Given the description of an element on the screen output the (x, y) to click on. 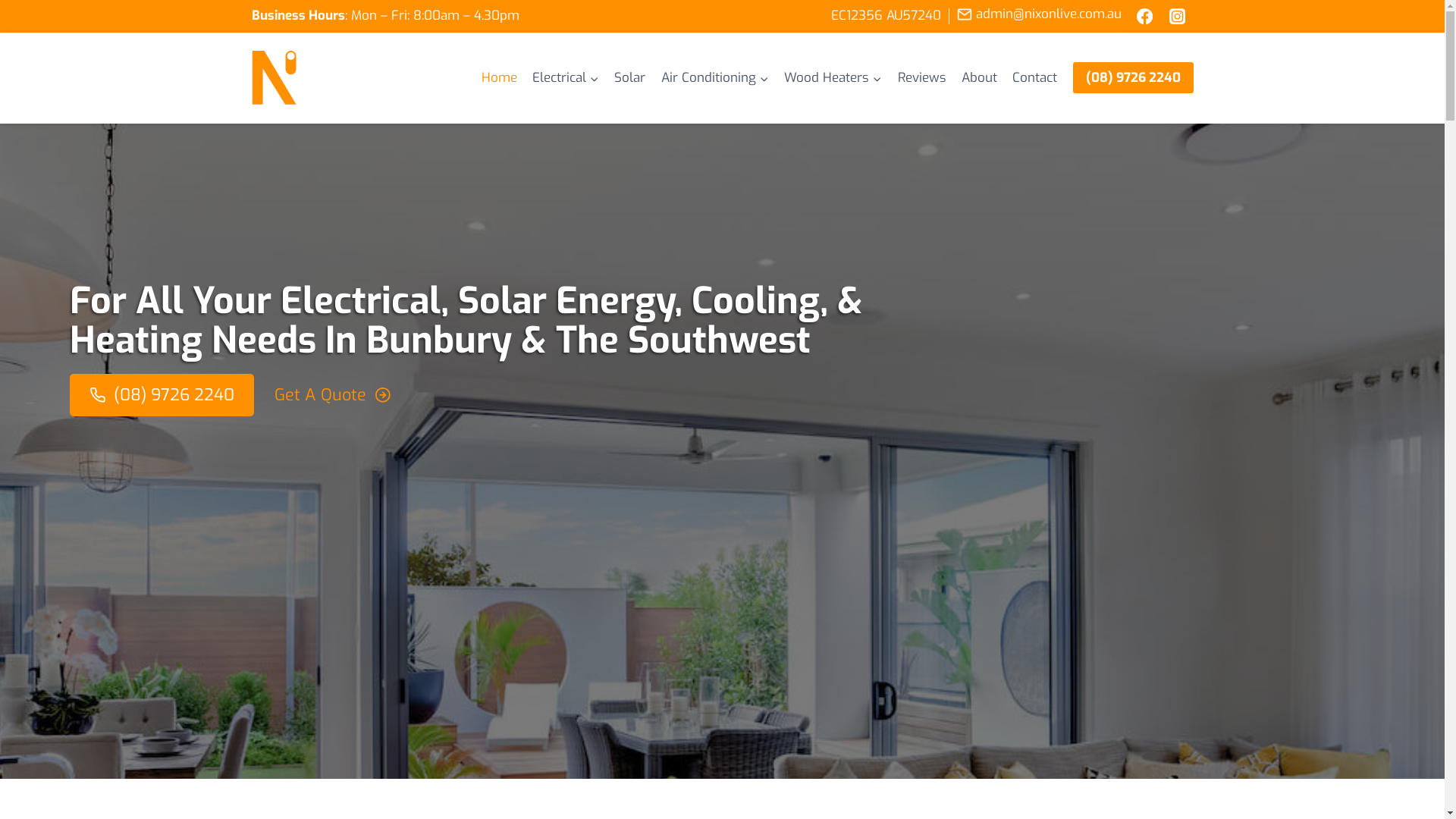
Solar Element type: text (629, 77)
Contact Element type: text (1034, 77)
Air Conditioning Element type: text (714, 77)
(08) 9726 2240 Element type: text (161, 394)
(08) 9726 2240 Element type: text (1132, 77)
Reviews Element type: text (921, 77)
Get A Quote Element type: text (332, 394)
Wood Heaters Element type: text (832, 77)
Home Element type: text (498, 77)
About Element type: text (978, 77)
Electrical Element type: text (565, 77)
